Given the description of an element on the screen output the (x, y) to click on. 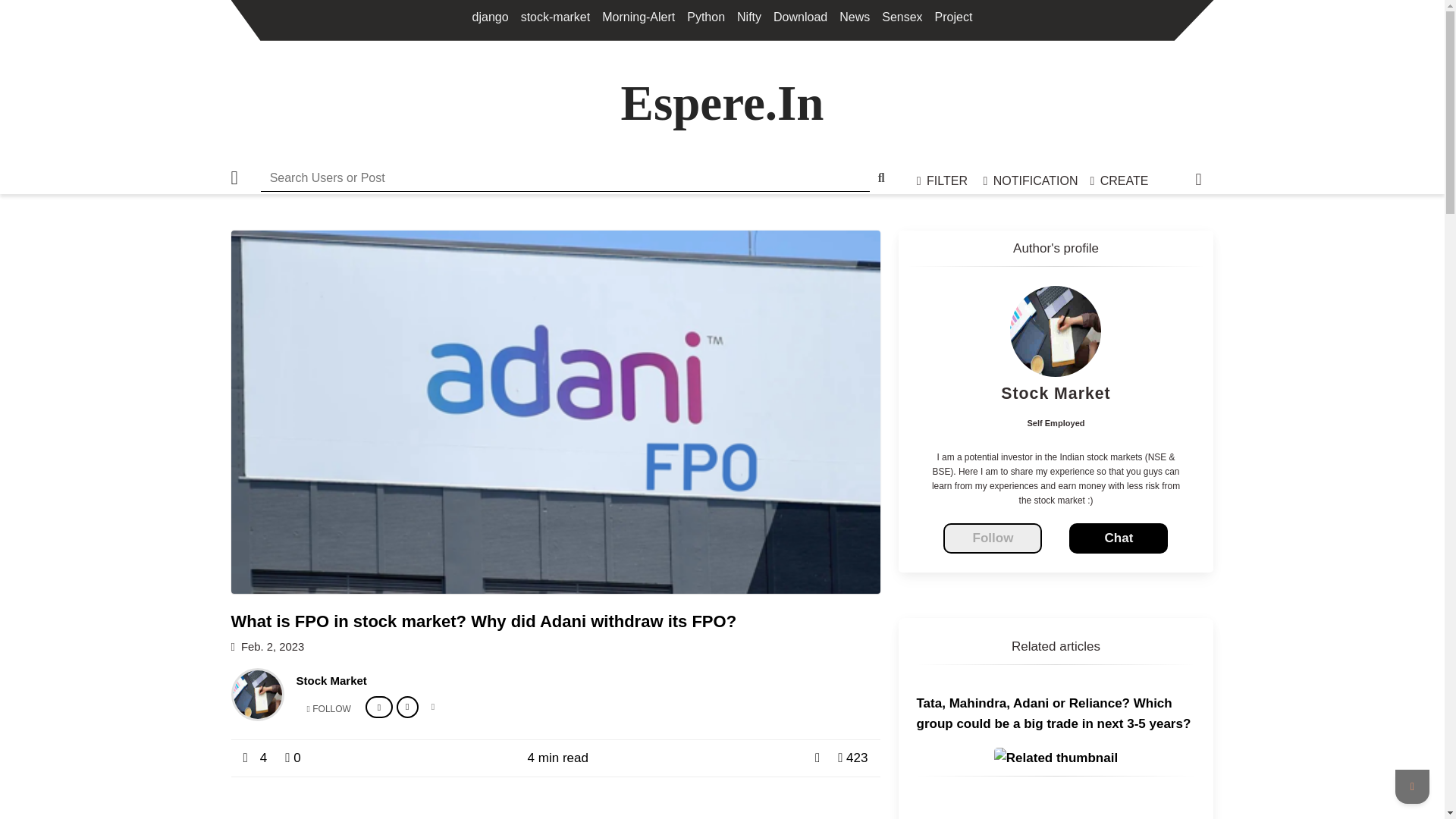
NOTIFICATION (1029, 180)
Espere.In (722, 103)
Python (706, 16)
Download (800, 16)
django (489, 16)
FILTER (944, 180)
Stock Market (330, 680)
FOLLOW (328, 708)
CREATE (1118, 180)
Project (953, 16)
Morning-Alert (638, 16)
stock-market (556, 16)
Nifty (748, 16)
Sensex (901, 16)
News (854, 16)
